Given the description of an element on the screen output the (x, y) to click on. 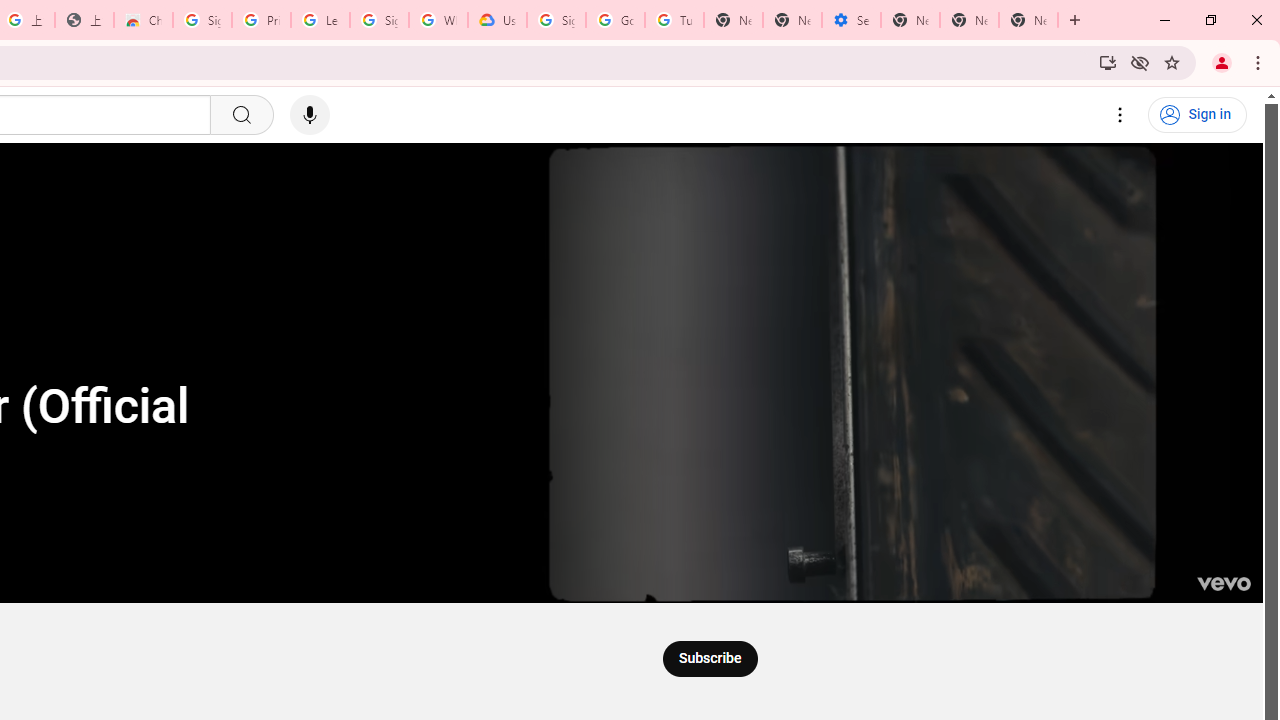
Search with your voice (309, 115)
New Tab (909, 20)
Channel watermark (1223, 583)
Turn cookies on or off - Computer - Google Account Help (674, 20)
Settings - Addresses and more (850, 20)
Sign in - Google Accounts (379, 20)
Chrome Web Store (142, 20)
Sign in - Google Accounts (201, 20)
New Tab (1028, 20)
